Given the description of an element on the screen output the (x, y) to click on. 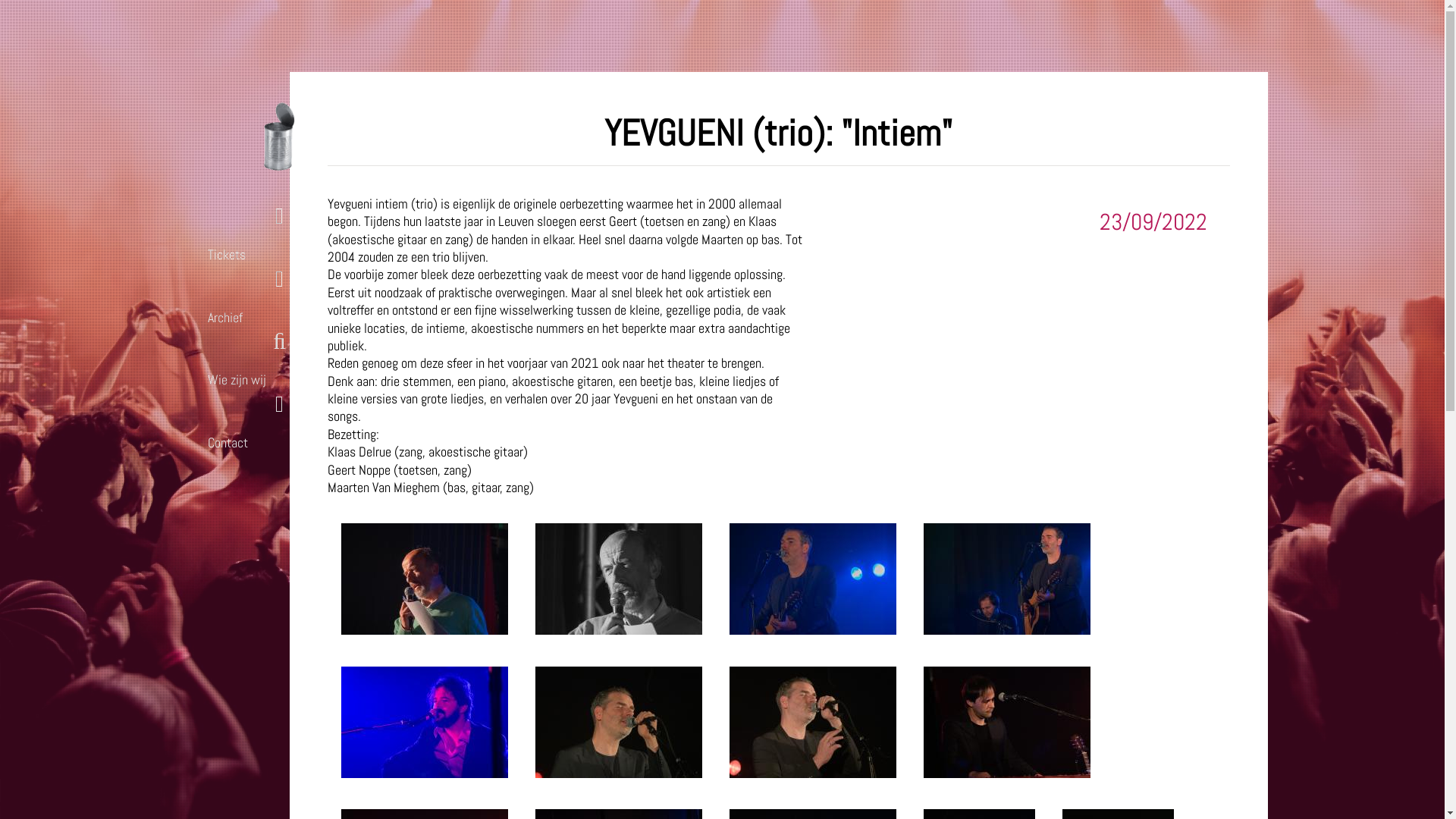
YEVGUENI (trio): "Intiem"  Element type: hover (812, 629)
Blauwput in concert Element type: text (279, 136)
YEVGUENI (trio): "Intiem"  Element type: hover (424, 772)
YEVGUENI (trio): "Intiem"  Element type: hover (618, 629)
YEVGUENI (trio): "Intiem"  Element type: hover (618, 772)
YEVGUENI (trio): "Intiem"  Element type: hover (1006, 629)
Tickets Element type: text (271, 228)
Wie zijn wij Element type: text (271, 353)
Archief Element type: text (271, 291)
Skip to main content Element type: text (96, 43)
Contact Element type: text (271, 416)
YEVGUENI (trio): "Intiem"  Element type: hover (812, 772)
YEVGUENI (trio): "Intiem"  Element type: hover (1006, 772)
YEVGUENI (trio): "Intiem"  Element type: hover (424, 629)
